Given the description of an element on the screen output the (x, y) to click on. 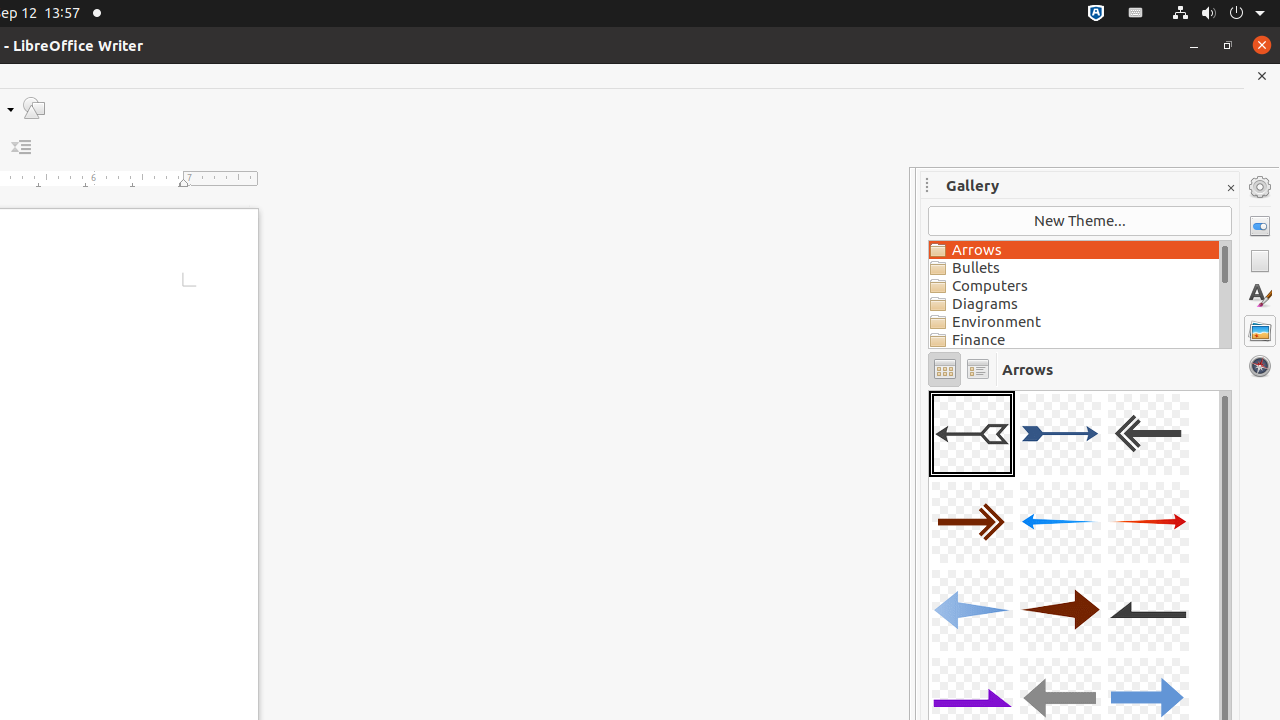
A34-CurvedArrow-Green-TwoDirections Element type: list-item (929, 390)
:1.21/StatusNotifierItem Element type: menu (1136, 13)
Icon View Element type: toggle-button (944, 369)
Decrease Element type: push-button (21, 147)
Detailed View Element type: toggle-button (977, 369)
